Given the description of an element on the screen output the (x, y) to click on. 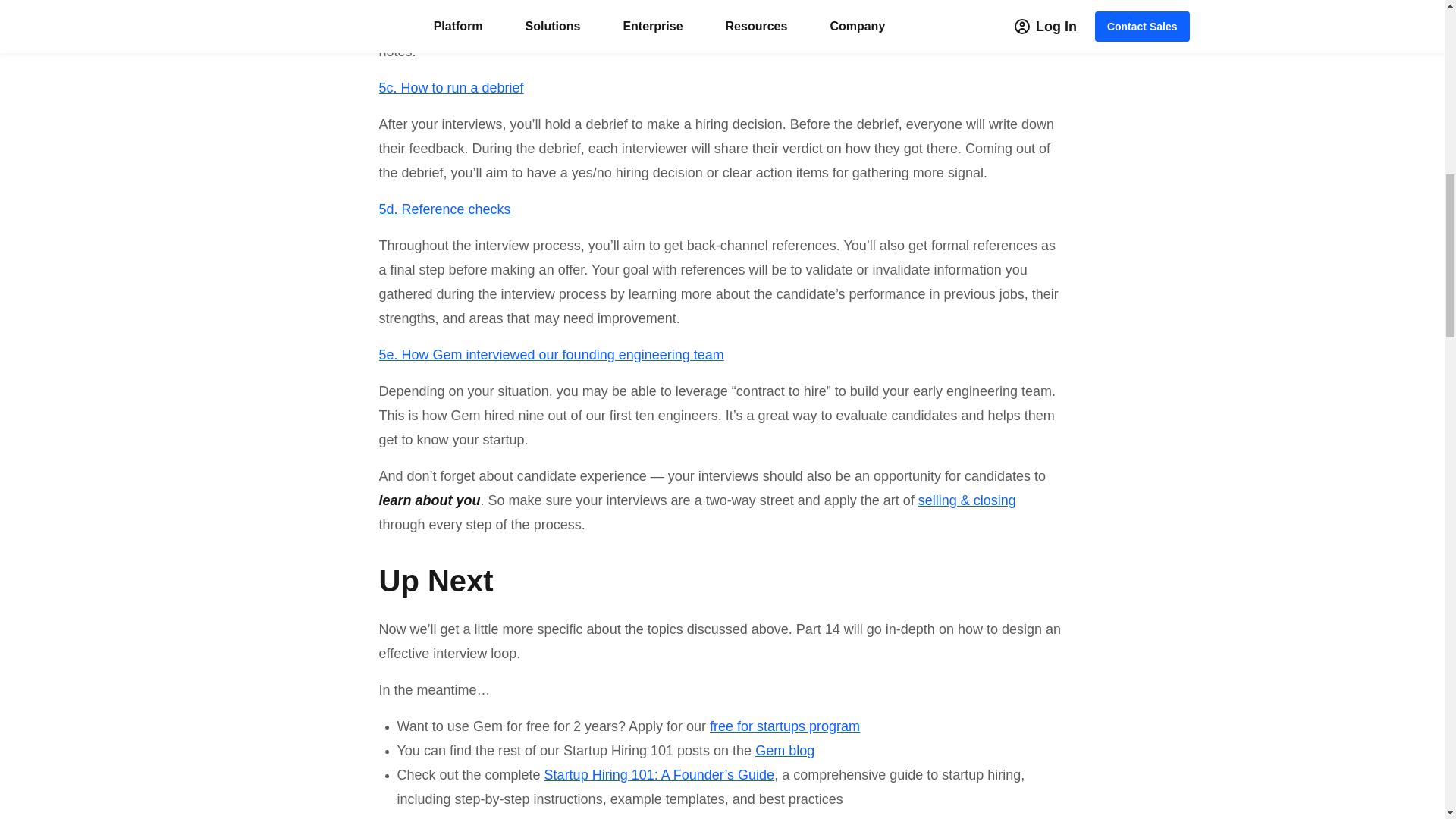
free for startups program (783, 726)
5d. Reference checks (444, 209)
5e. How Gem interviewed our founding engineering team (550, 354)
5c. How to run a debrief (451, 87)
Gem blog (784, 750)
